Given the description of an element on the screen output the (x, y) to click on. 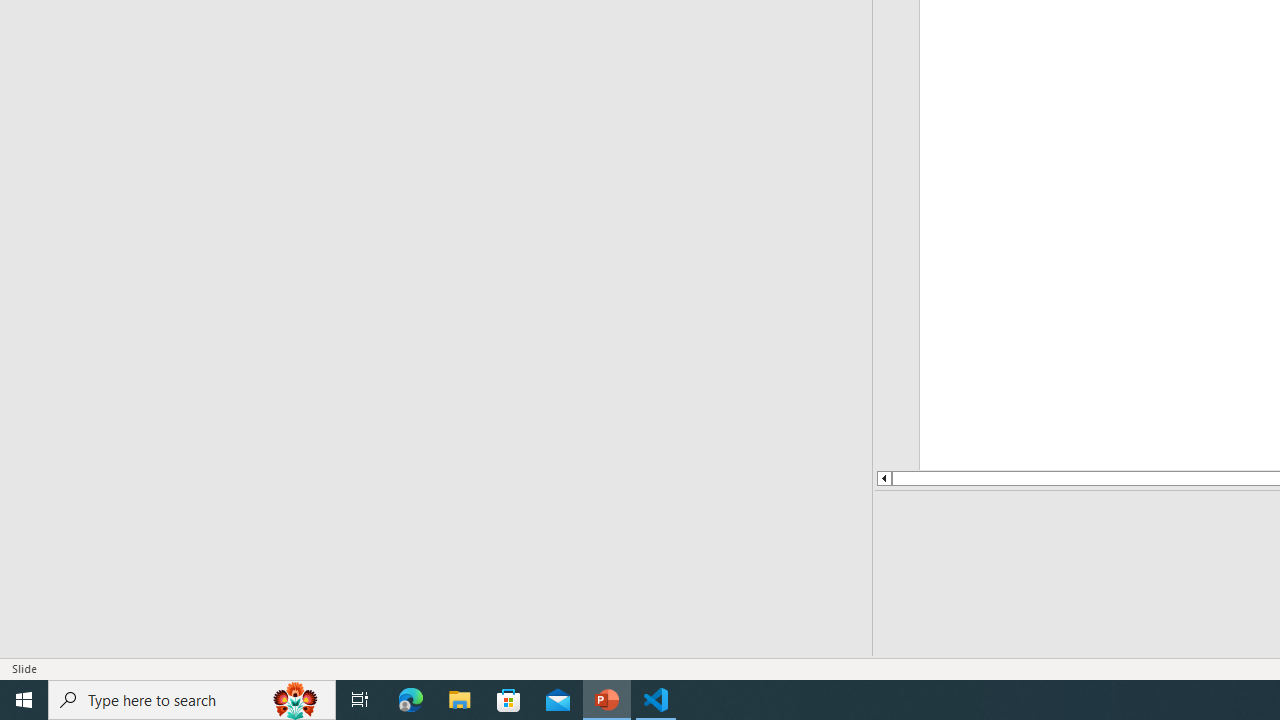
Visual Studio Code - 1 running window (656, 699)
Start (24, 699)
Type here to search (191, 699)
Task View (359, 699)
Search highlights icon opens search home window (295, 699)
File Explorer (460, 699)
Microsoft Edge (411, 699)
Microsoft Store (509, 699)
PowerPoint - 1 running window (607, 699)
